Given the description of an element on the screen output the (x, y) to click on. 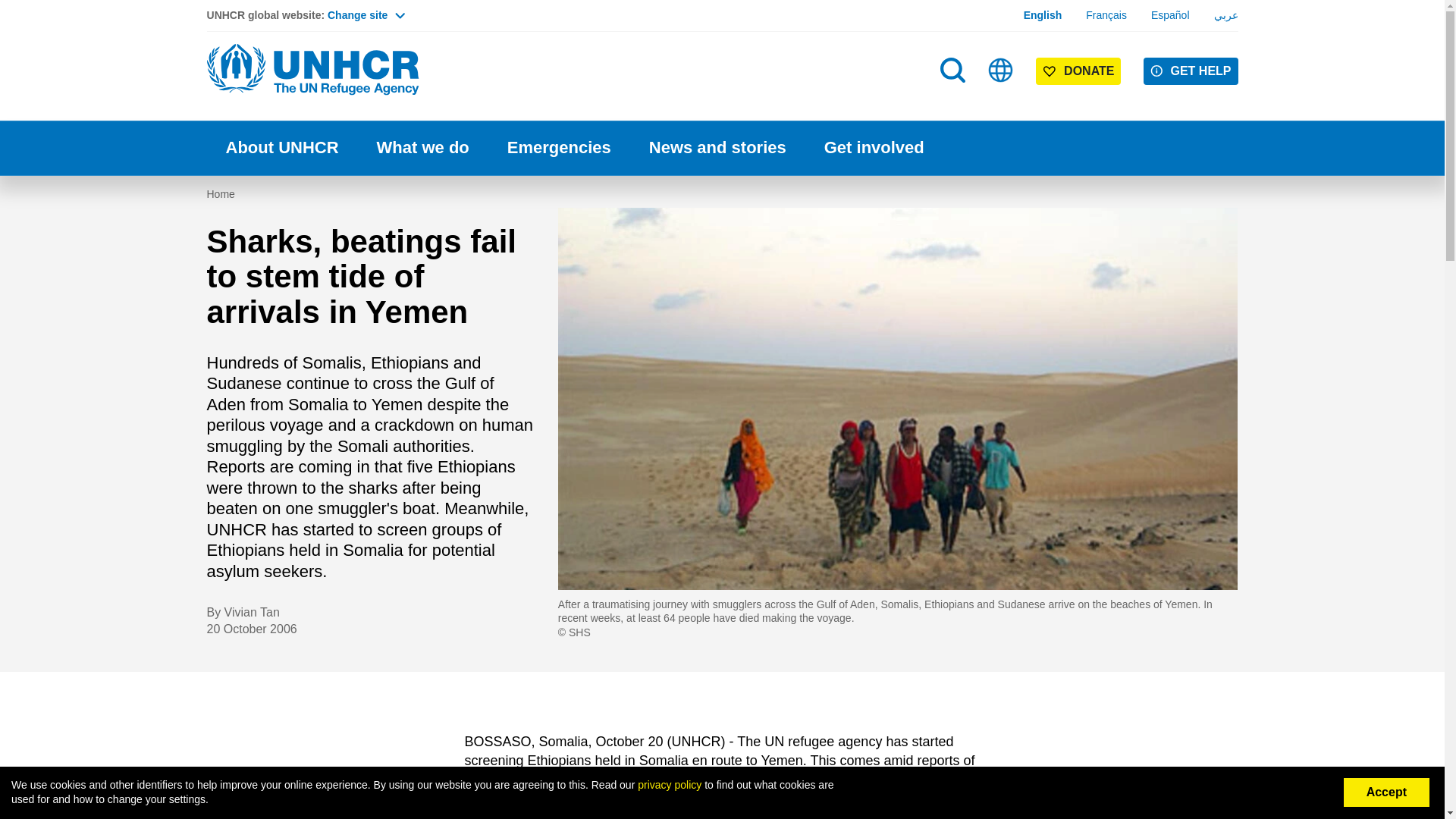
GET HELP (1189, 71)
DONATE (1078, 71)
Skip to main content (721, 1)
Sites (1000, 69)
Search (954, 99)
Search (952, 69)
About UNHCR (281, 148)
English (1042, 15)
Change site (365, 15)
Home (312, 69)
